Given the description of an element on the screen output the (x, y) to click on. 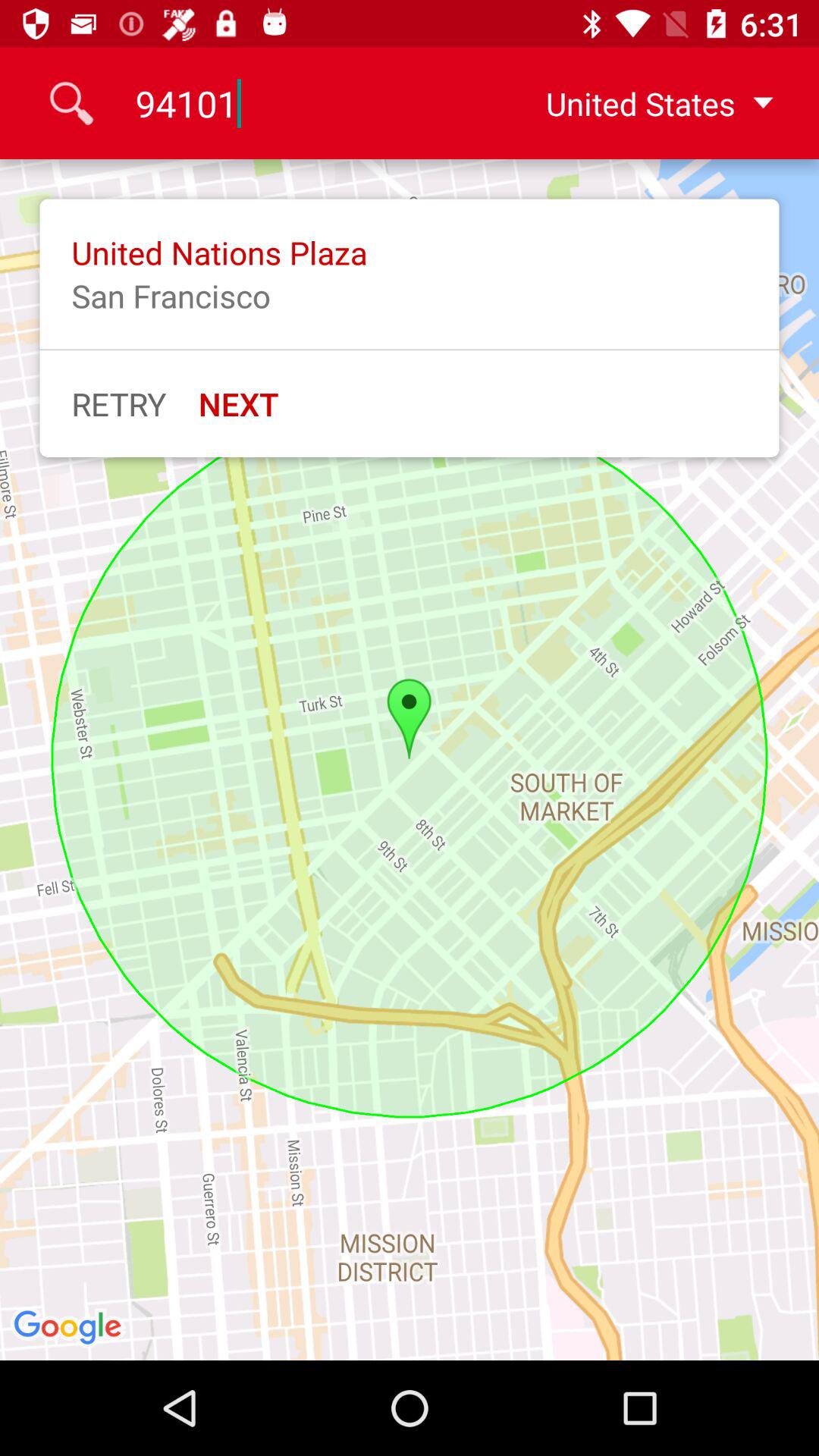
tap next (238, 403)
